Given the description of an element on the screen output the (x, y) to click on. 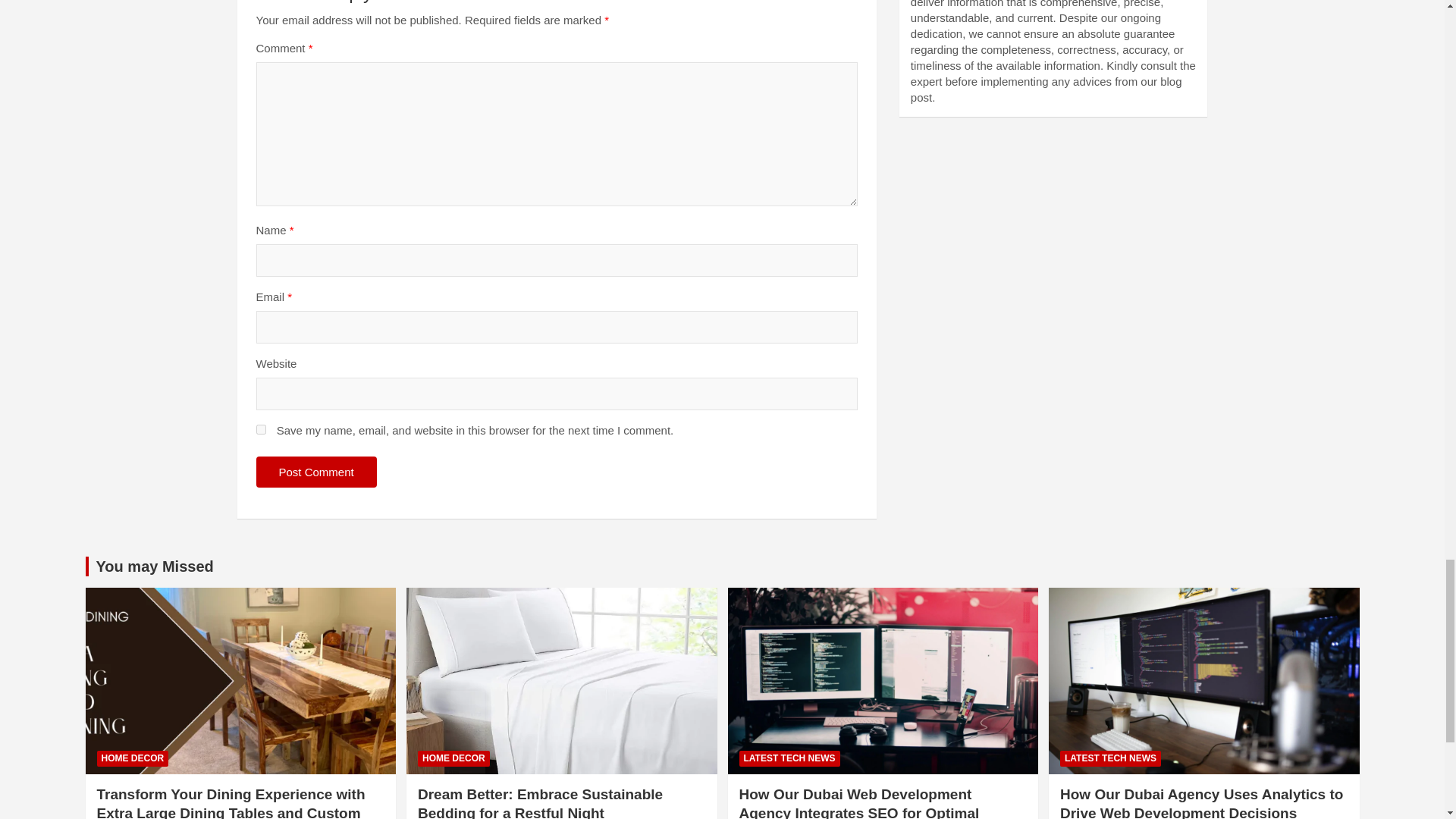
Post Comment (316, 471)
yes (261, 429)
